Given the description of an element on the screen output the (x, y) to click on. 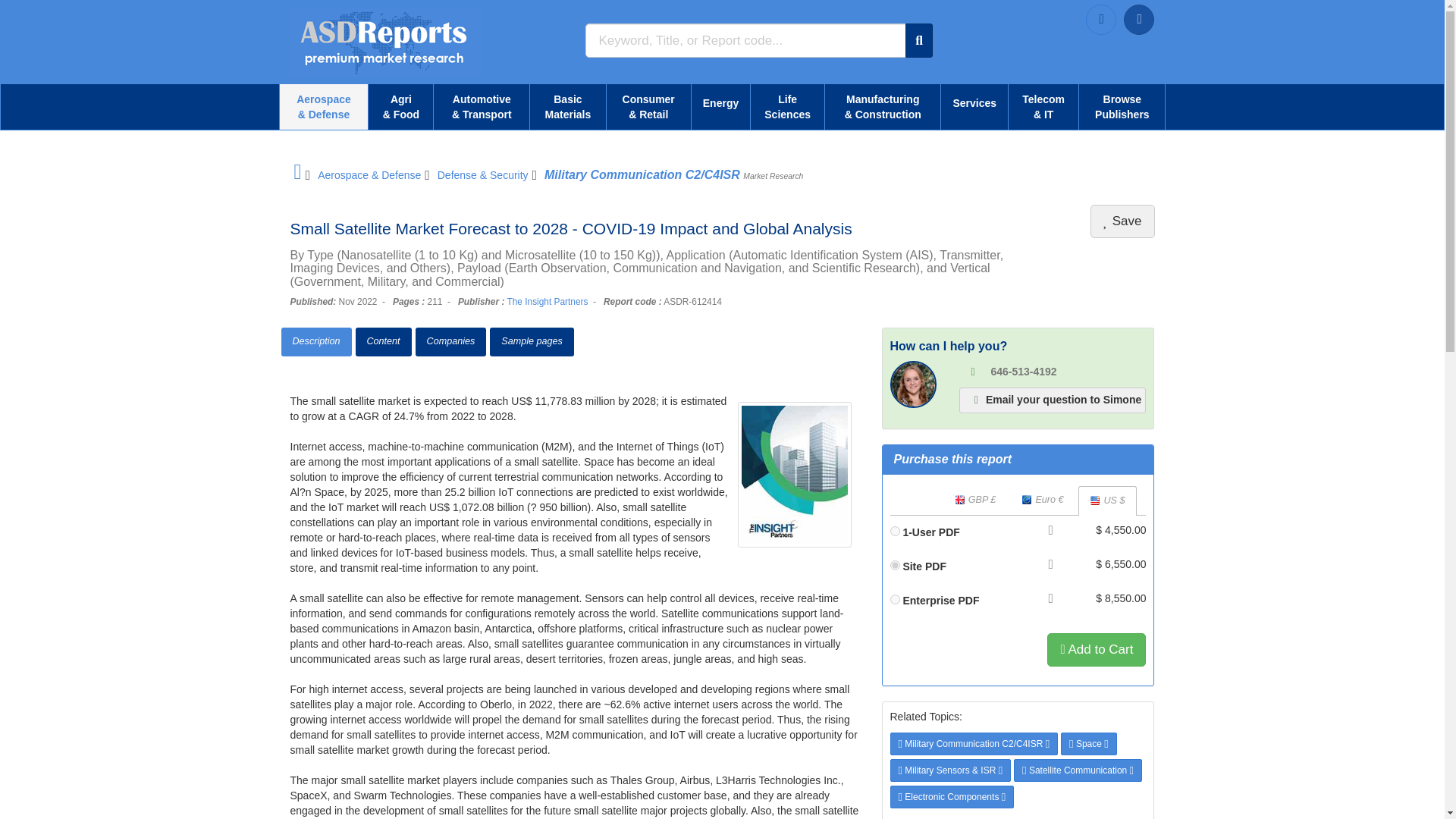
xprice1 (894, 531)
Change currency to Euro (1042, 500)
Change currency to GB Pound (975, 500)
xprice3 (894, 599)
xprice2 (894, 565)
Change currency to US Dollar (1107, 500)
